Given the description of an element on the screen output the (x, y) to click on. 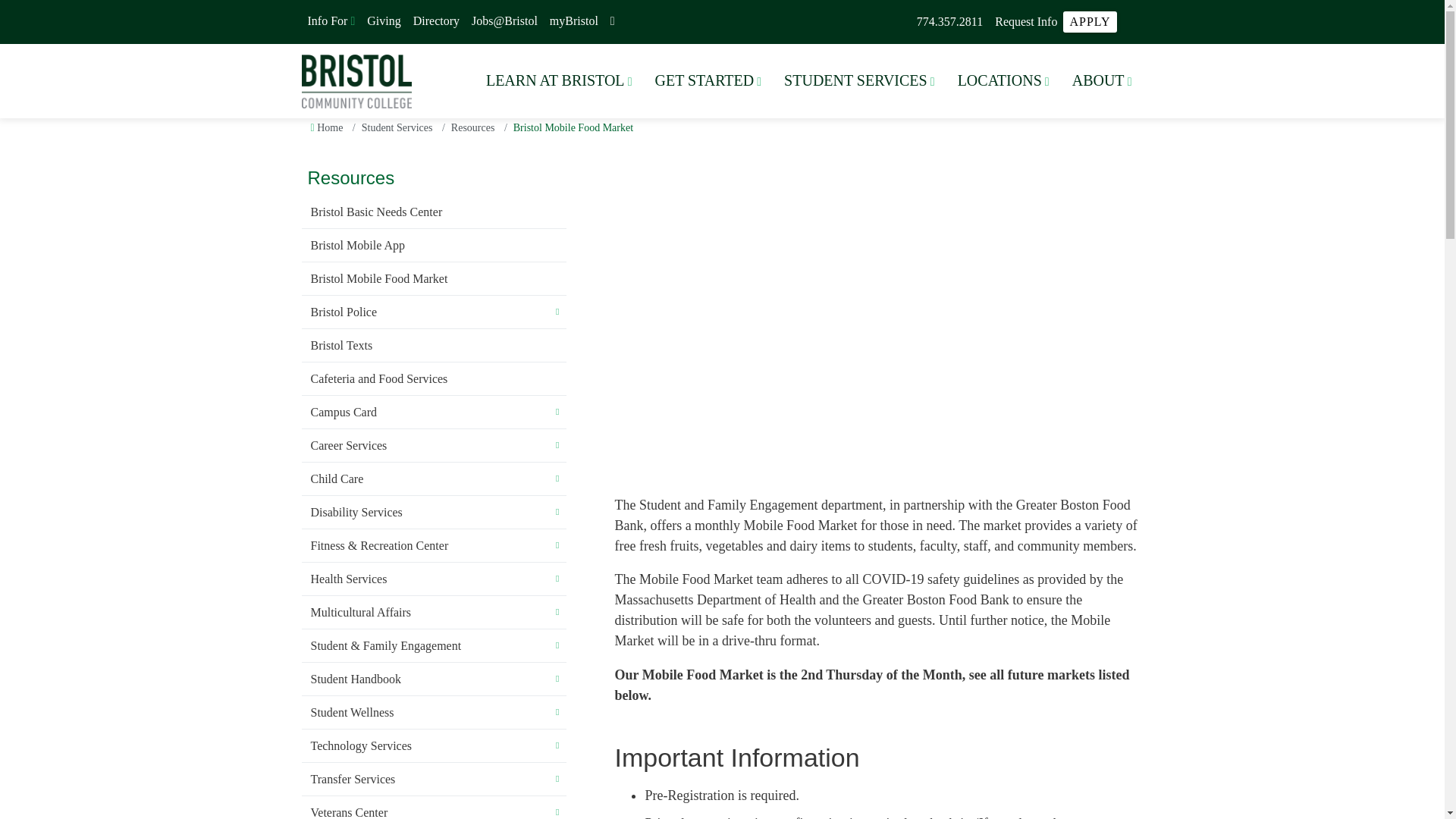
GET STARTED (708, 79)
LEARN AT BRISTOL (558, 79)
